Given the description of an element on the screen output the (x, y) to click on. 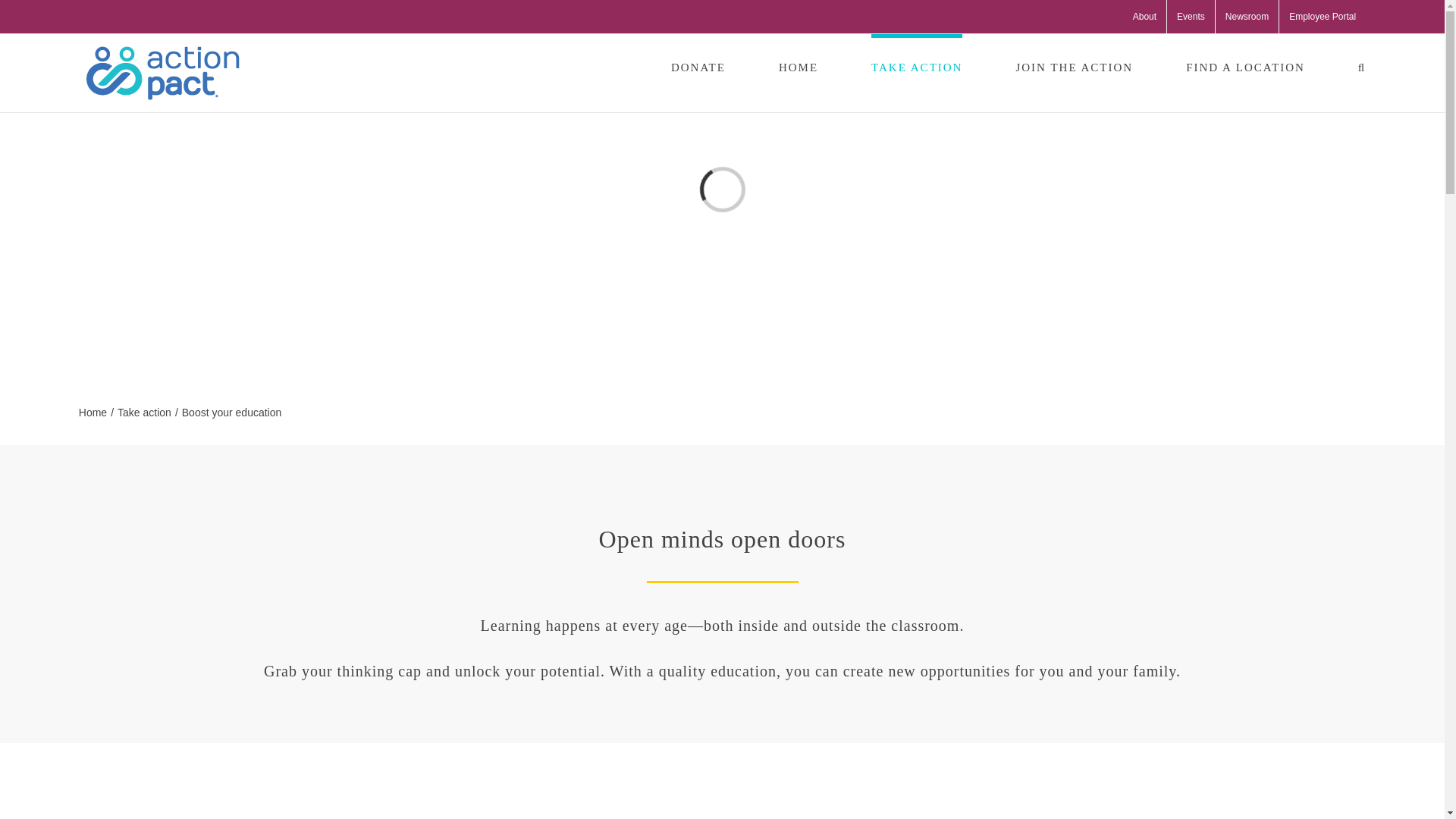
Newsroom (1246, 16)
Take action (144, 412)
JOIN THE ACTION (1073, 65)
TAKE ACTION (916, 65)
Employee Portal (1322, 16)
FIND A LOCATION (1245, 65)
Home (92, 412)
About (1144, 16)
Events (1190, 16)
